Given the description of an element on the screen output the (x, y) to click on. 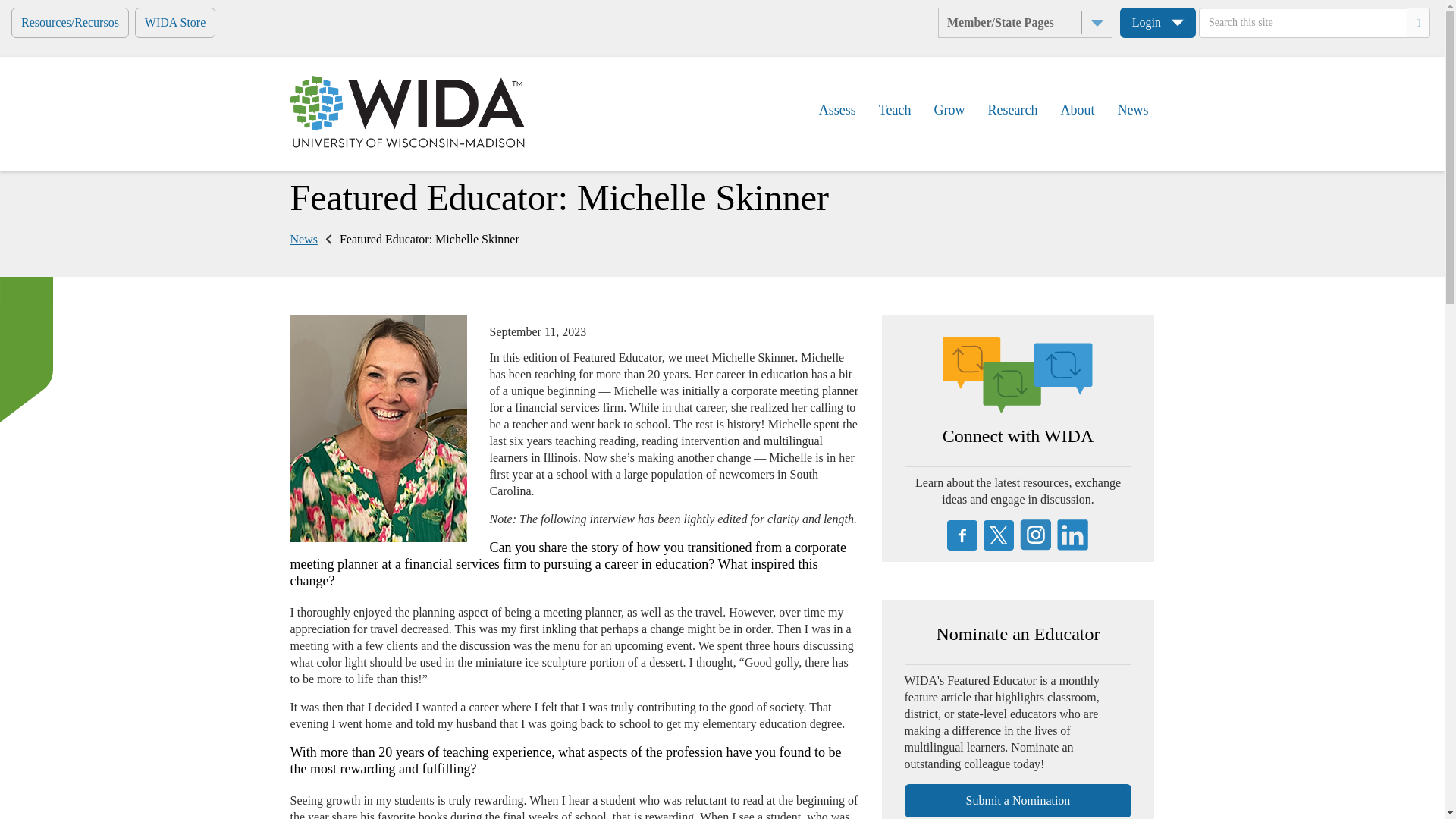
Apply (23, 12)
WIDA Store (175, 22)
Assess (836, 109)
Home (406, 112)
Login (1157, 22)
